Given the description of an element on the screen output the (x, y) to click on. 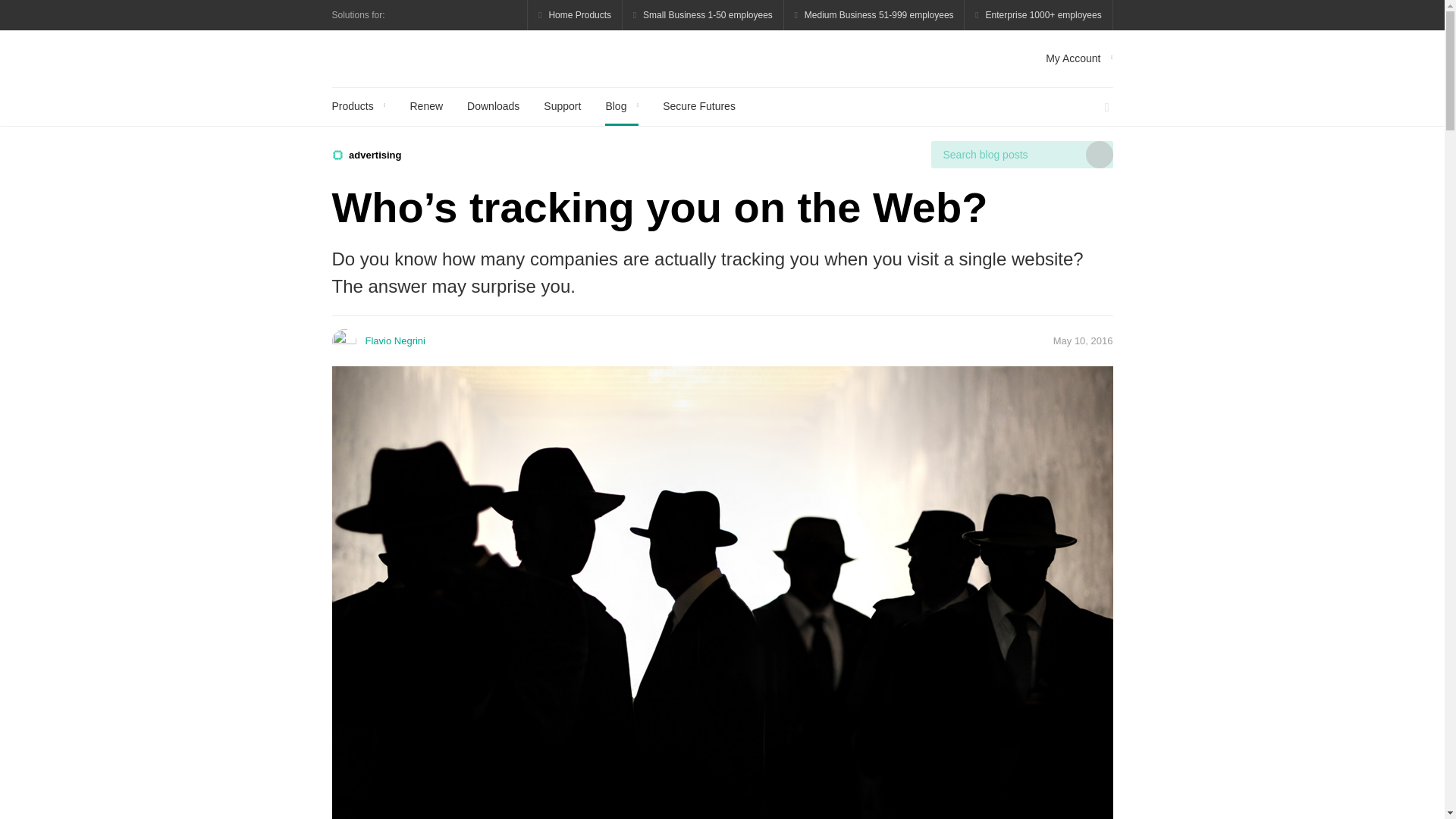
Home Products (575, 15)
Secure Futures (698, 106)
My Account (1078, 58)
Downloads (493, 106)
Medium Business 51-999 employees (874, 15)
Kaspersky official blog (415, 58)
Small Business 1-50 employees (703, 15)
Kaspersky official blog (415, 58)
Products (358, 106)
font-icons icon-small-business (703, 15)
